Given the description of an element on the screen output the (x, y) to click on. 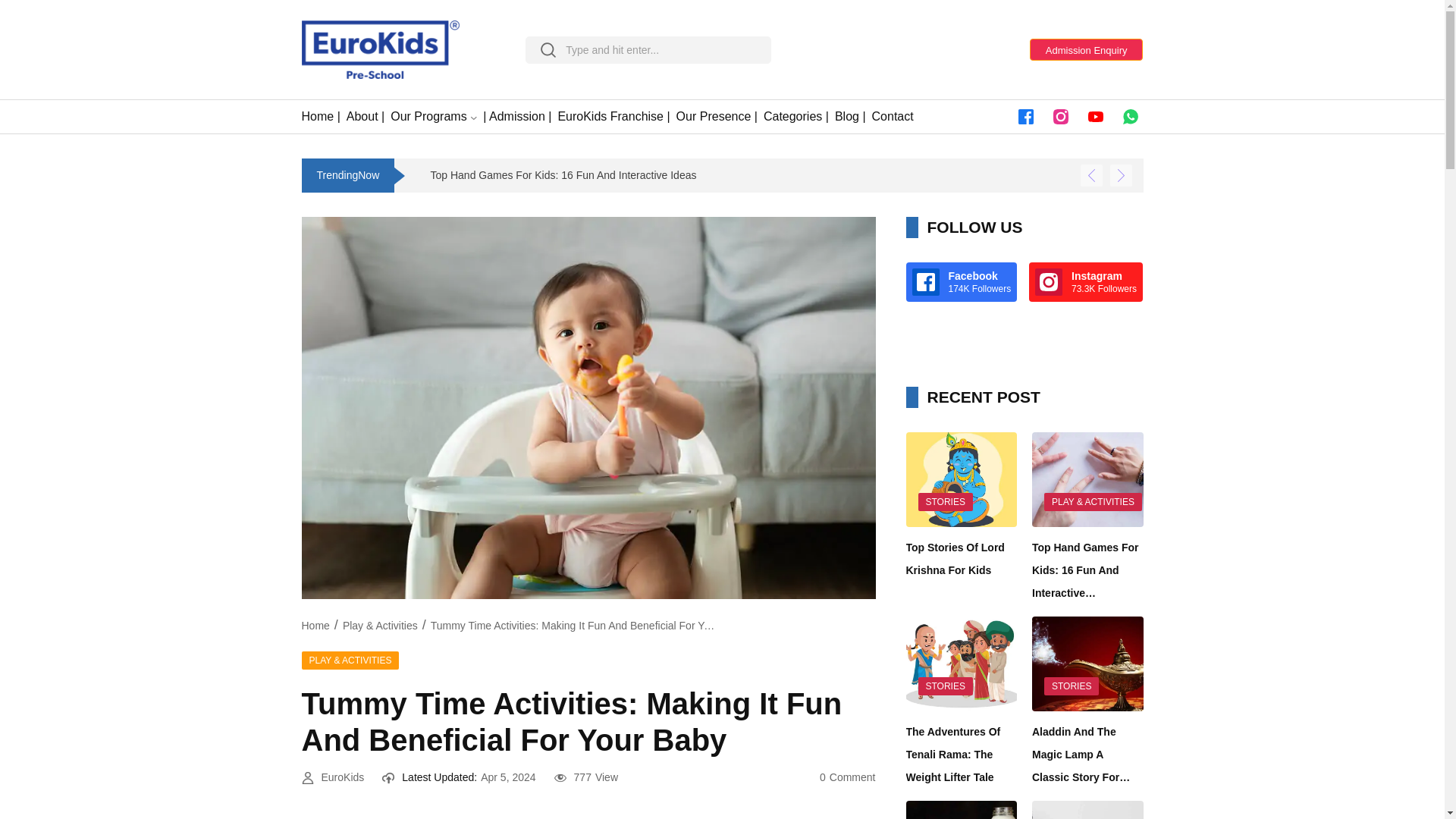
Contact (893, 116)
Admission Enquiry (1085, 49)
EuroKids (343, 778)
Top Hand Games For Kids: 16 Fun And Interactive Ideas (294, 176)
Home (315, 625)
Our Programs (427, 116)
